Given the description of an element on the screen output the (x, y) to click on. 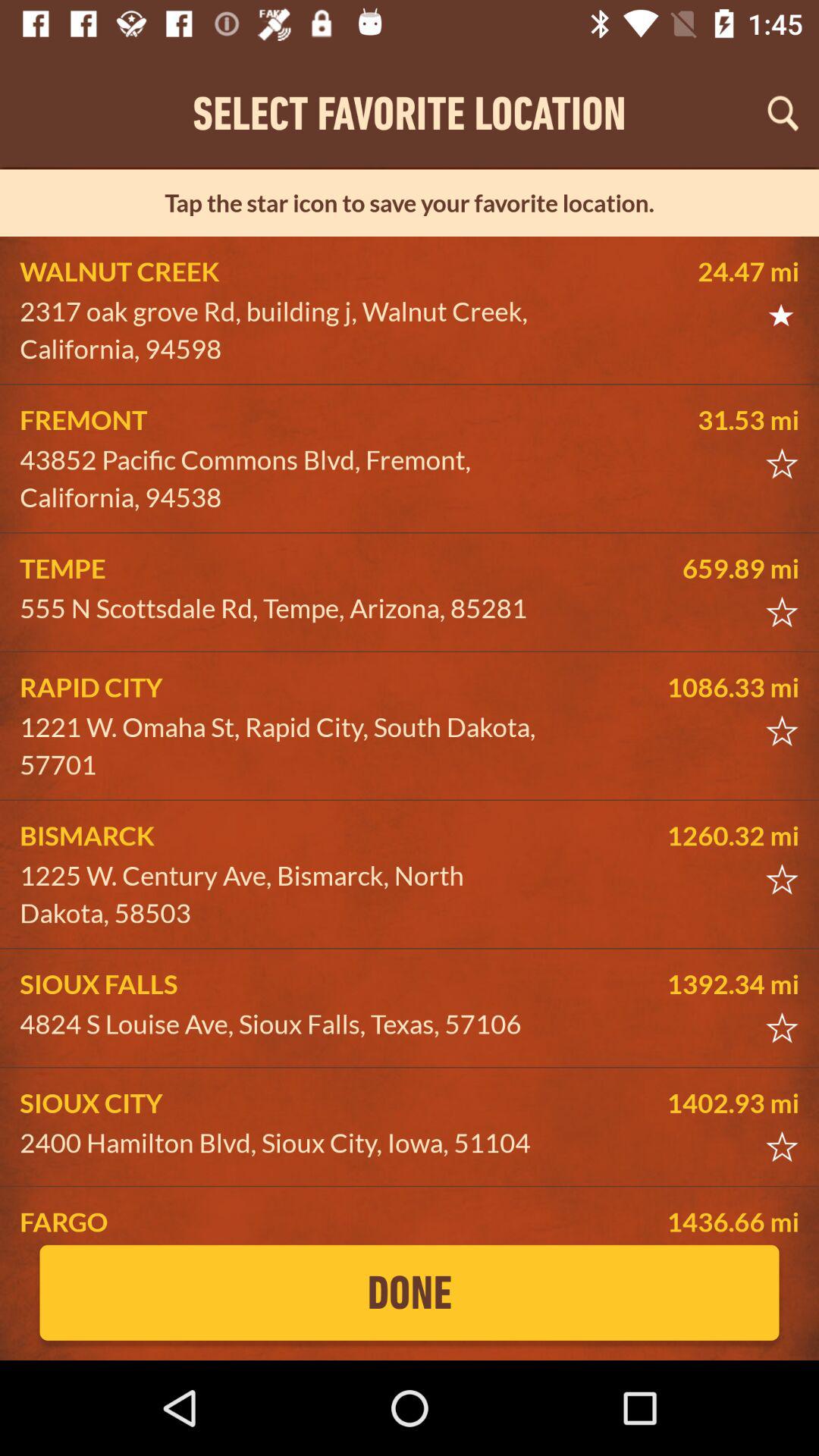
search locations (783, 112)
